Given the description of an element on the screen output the (x, y) to click on. 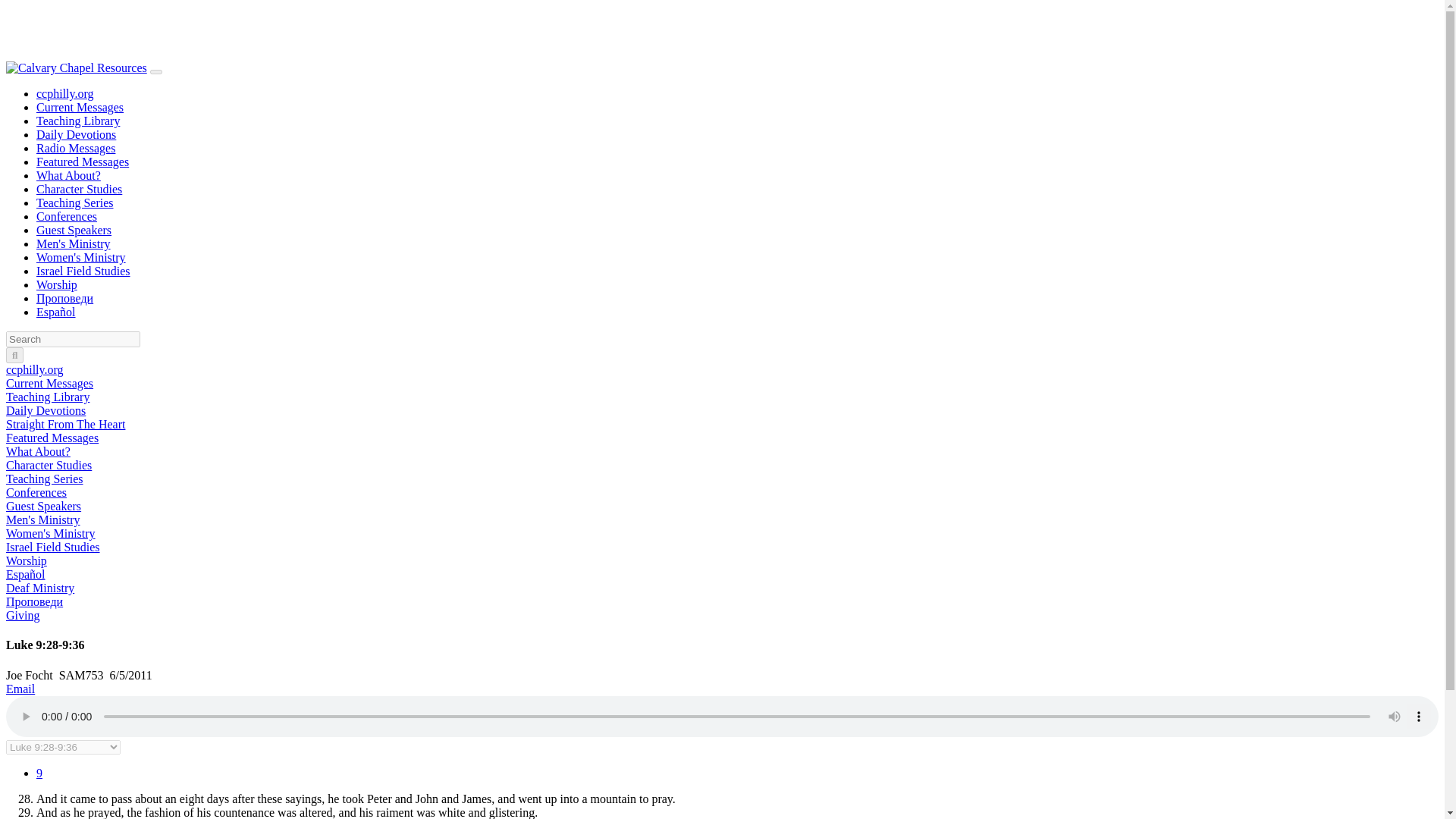
Email (19, 688)
Character Studies (48, 464)
Teaching Library (46, 396)
ccphilly.org (65, 92)
Radio Messages (75, 147)
Giving (22, 615)
Calvary Chapel Resources (76, 66)
Men's Ministry (42, 519)
Conferences (66, 215)
Character Studies (79, 188)
Character Studies (79, 188)
Guest Speakers (74, 229)
Worship (56, 284)
CC Philly Website (65, 92)
Teaching Series (43, 478)
